Given the description of an element on the screen output the (x, y) to click on. 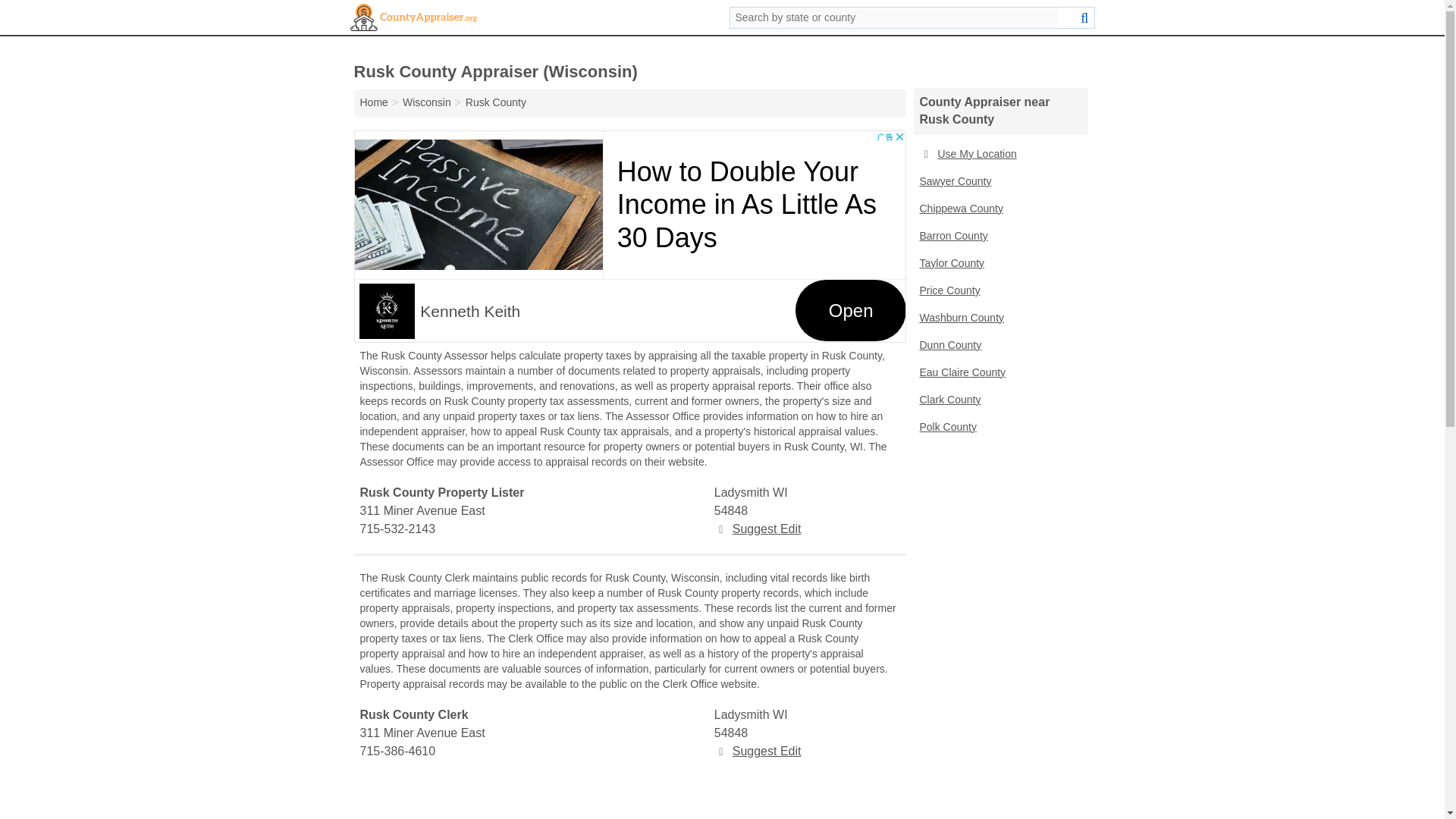
Wisconsin County Appraiser (427, 102)
County Appraiser (373, 102)
Sawyer County (999, 181)
Clark County (999, 400)
Chippewa County (999, 208)
Washburn County (999, 318)
County Appraiser (413, 16)
Barron County (999, 236)
Wisconsin (427, 102)
Advertisement (629, 236)
